Given the description of an element on the screen output the (x, y) to click on. 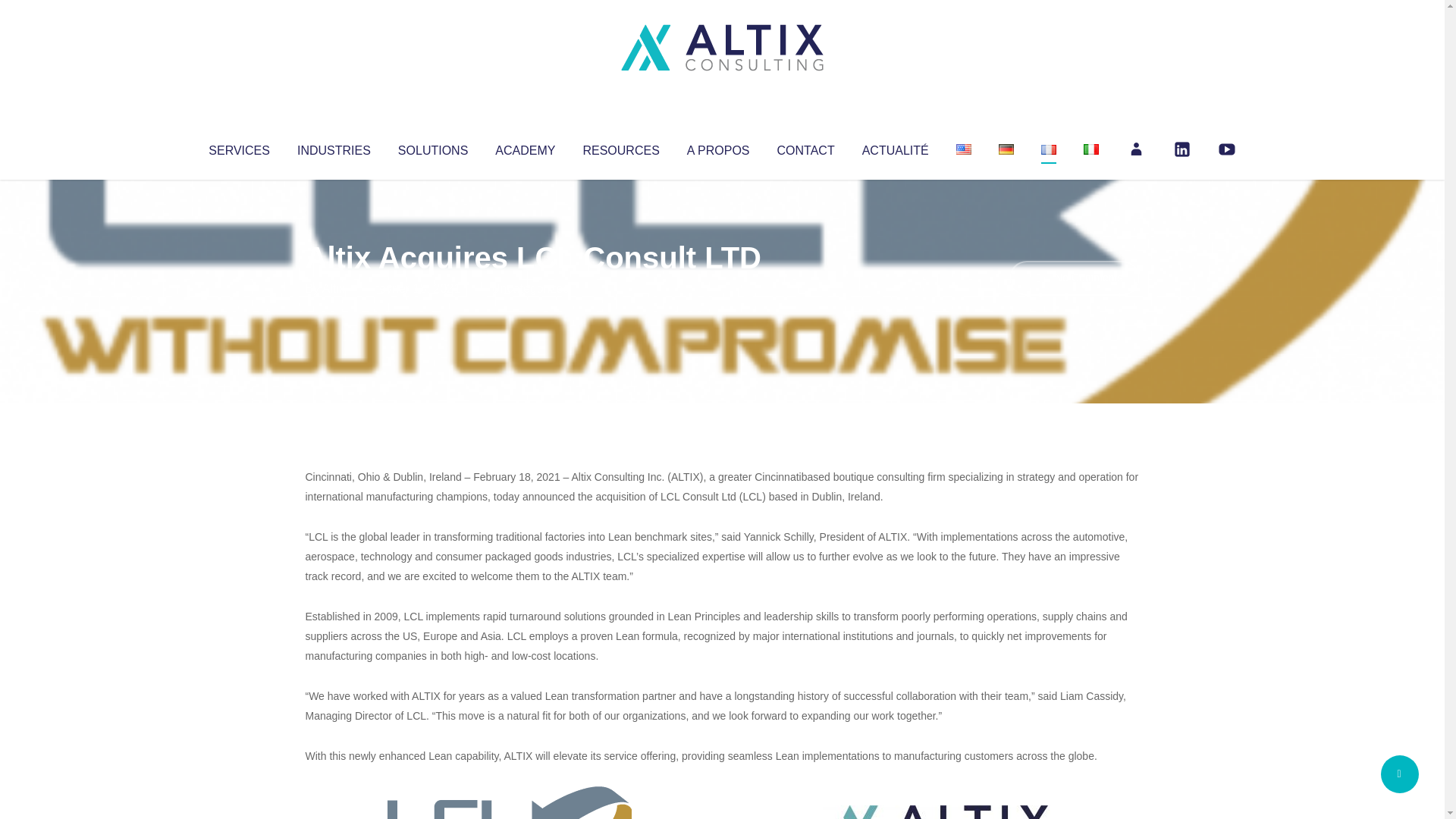
SERVICES (238, 146)
Altix (333, 287)
ACADEMY (524, 146)
RESOURCES (620, 146)
SOLUTIONS (432, 146)
A PROPOS (718, 146)
Uncategorized (530, 287)
Articles par Altix (333, 287)
INDUSTRIES (334, 146)
No Comments (1073, 278)
